Given the description of an element on the screen output the (x, y) to click on. 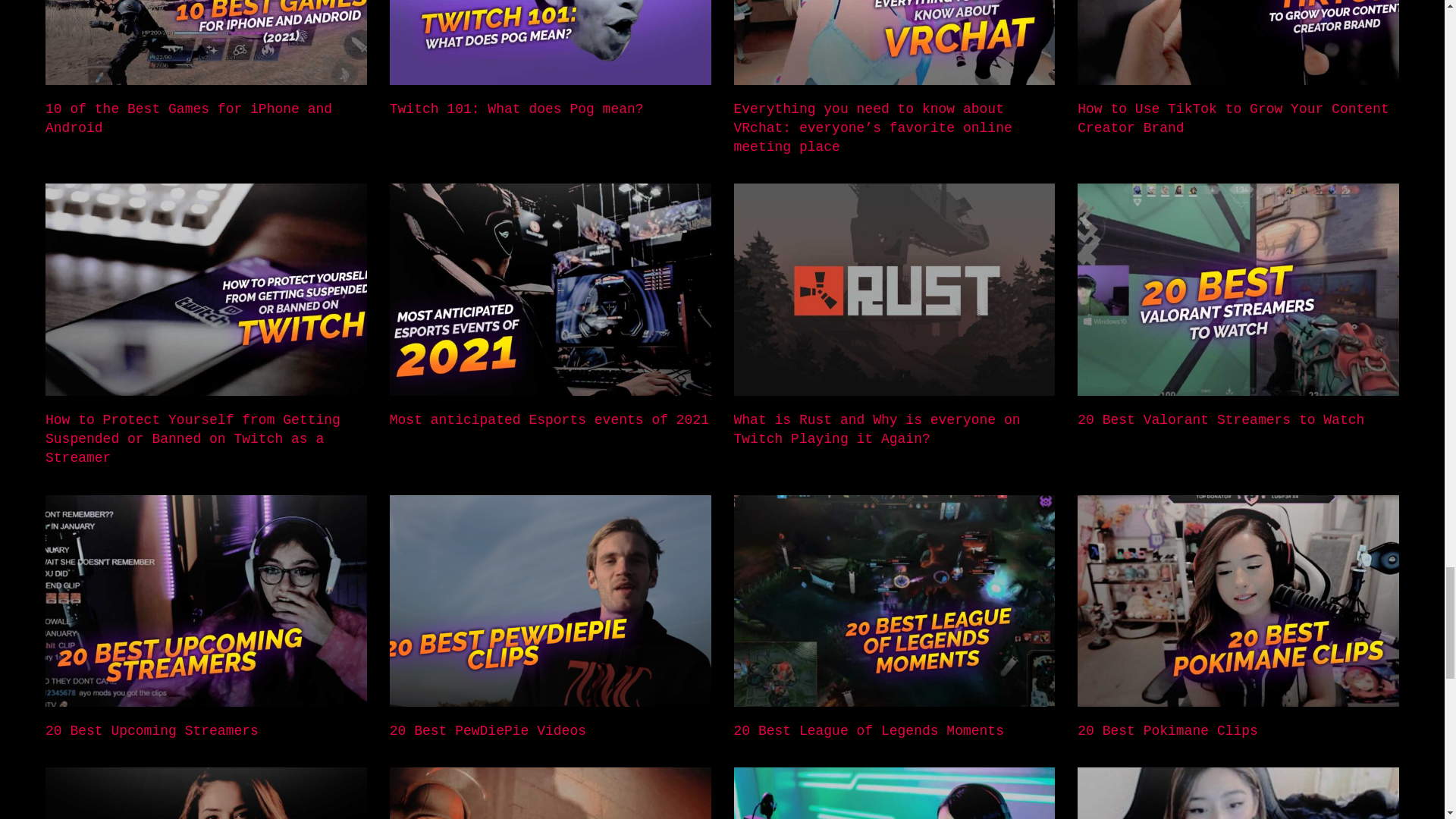
How to Use TikTok to Grow Your Content Creator Brand (1233, 118)
Twitch 101: What does Pog mean? (516, 109)
10 of the Best Games for iPhone and Android (188, 118)
